Given the description of an element on the screen output the (x, y) to click on. 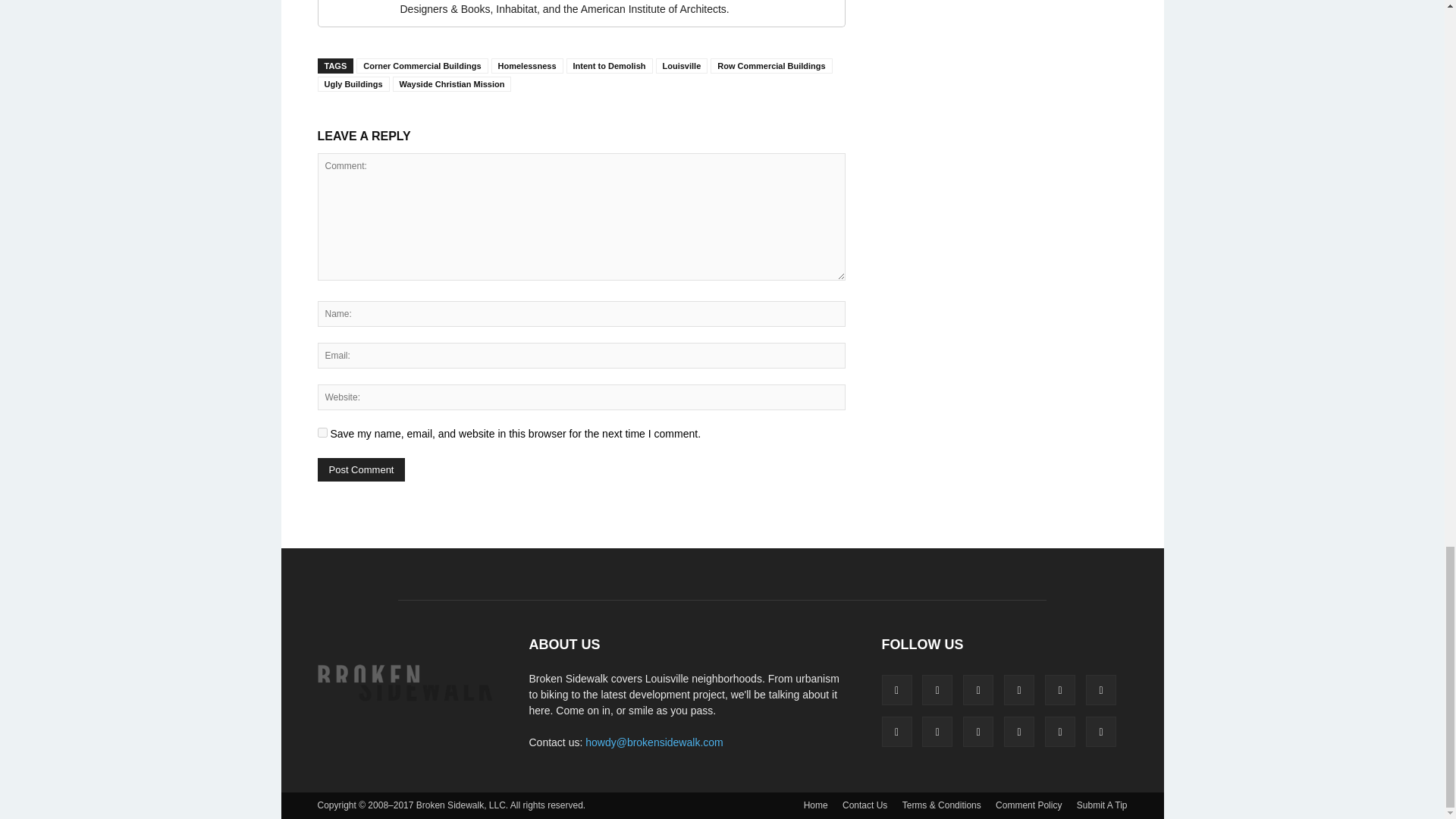
Post Comment (360, 469)
yes (321, 432)
